Given the description of an element on the screen output the (x, y) to click on. 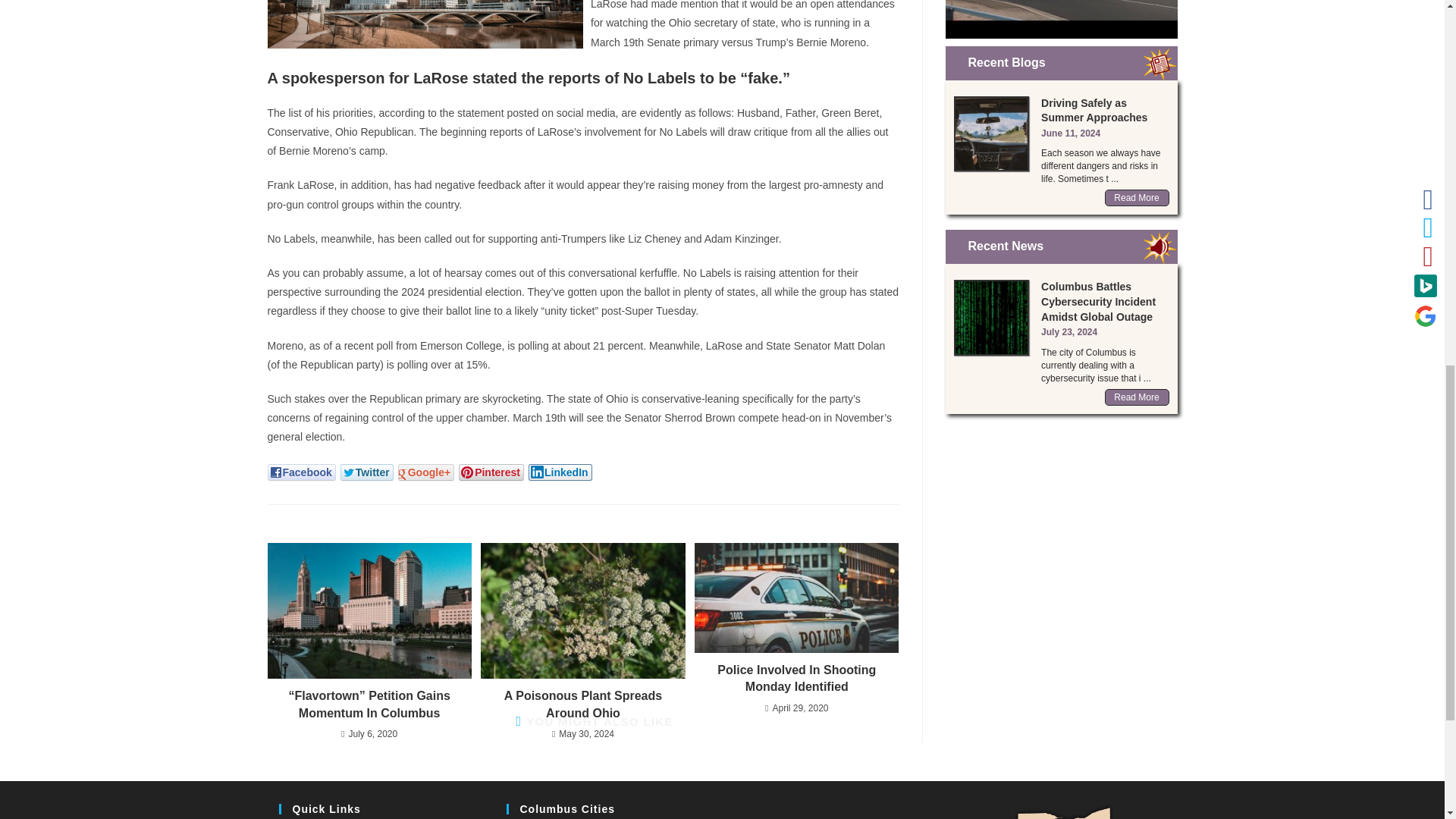
Share link on Twitter (366, 472)
Driving Safely as Summer Approaches (991, 133)
Share link on Facebook (300, 472)
Share link on LinkedIn (560, 472)
Share image on Pinterest (491, 472)
